Given the description of an element on the screen output the (x, y) to click on. 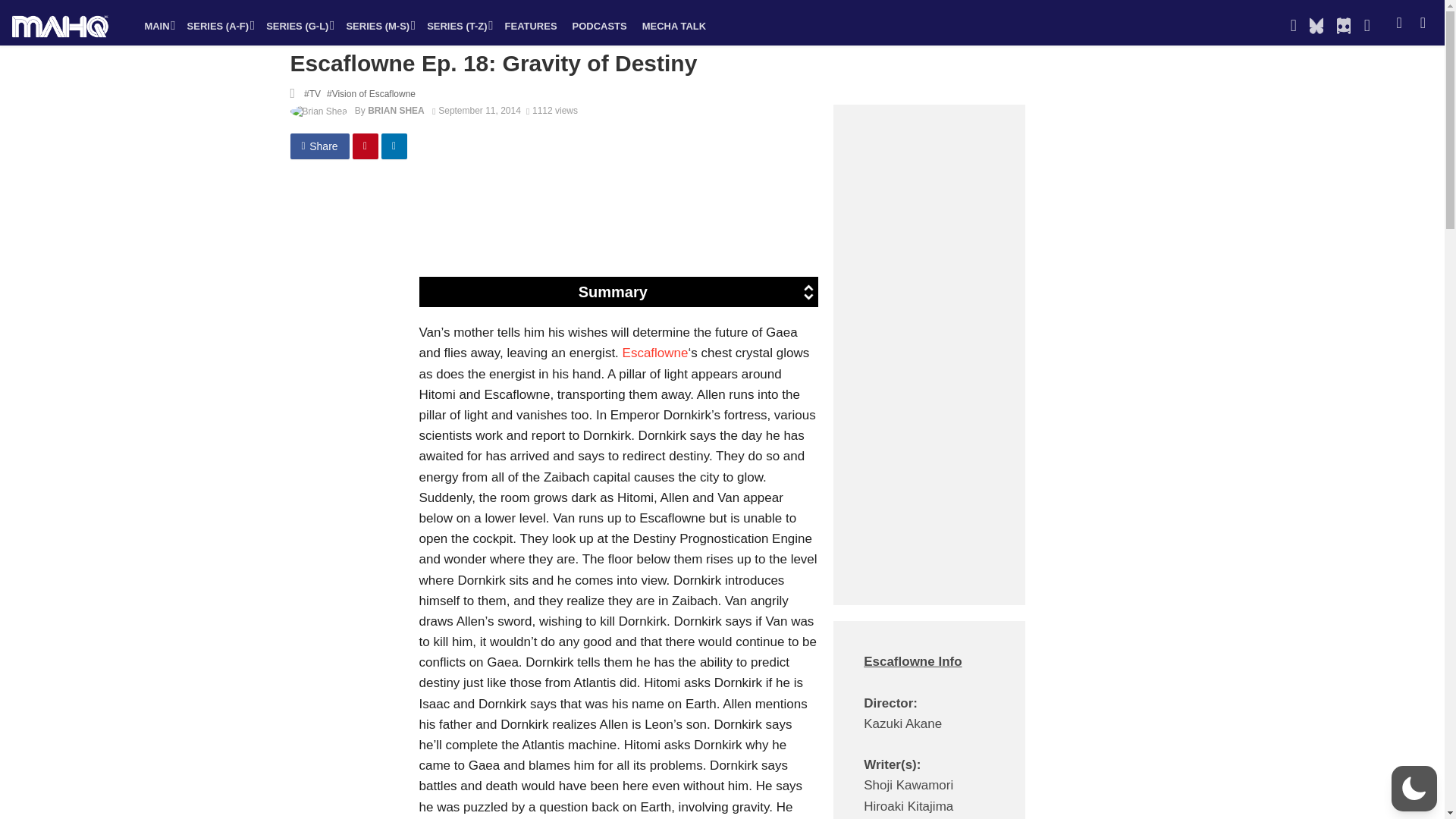
September 11, 2014 at 12:00 am (476, 110)
MAIN (157, 26)
Posts by Brian Shea (396, 110)
Share on Facebook (319, 145)
Share on Linkedin (394, 145)
Share on Pinterest (365, 145)
Advertisement (686, 223)
